Given the description of an element on the screen output the (x, y) to click on. 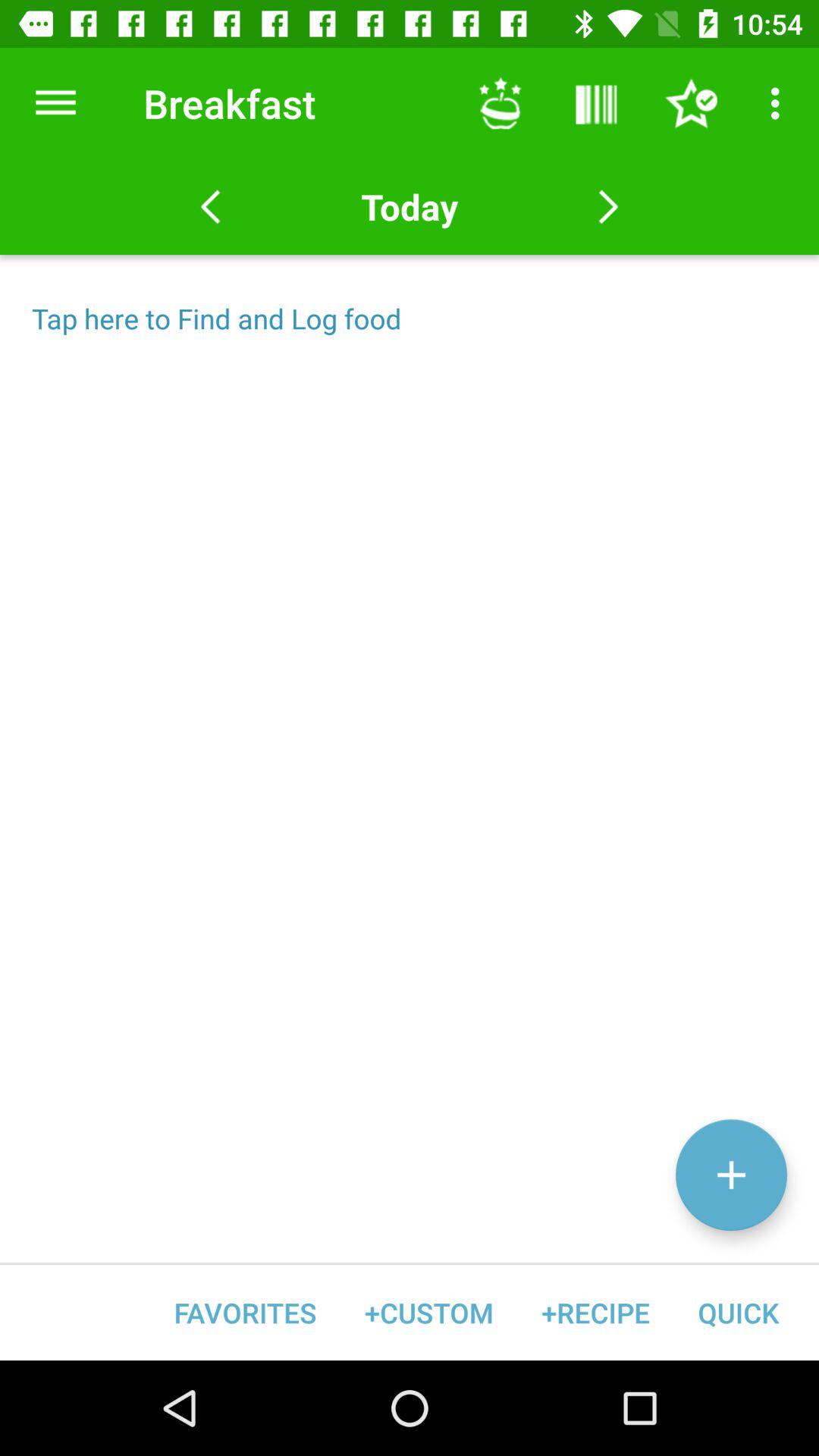
flip until the favorites (245, 1312)
